Given the description of an element on the screen output the (x, y) to click on. 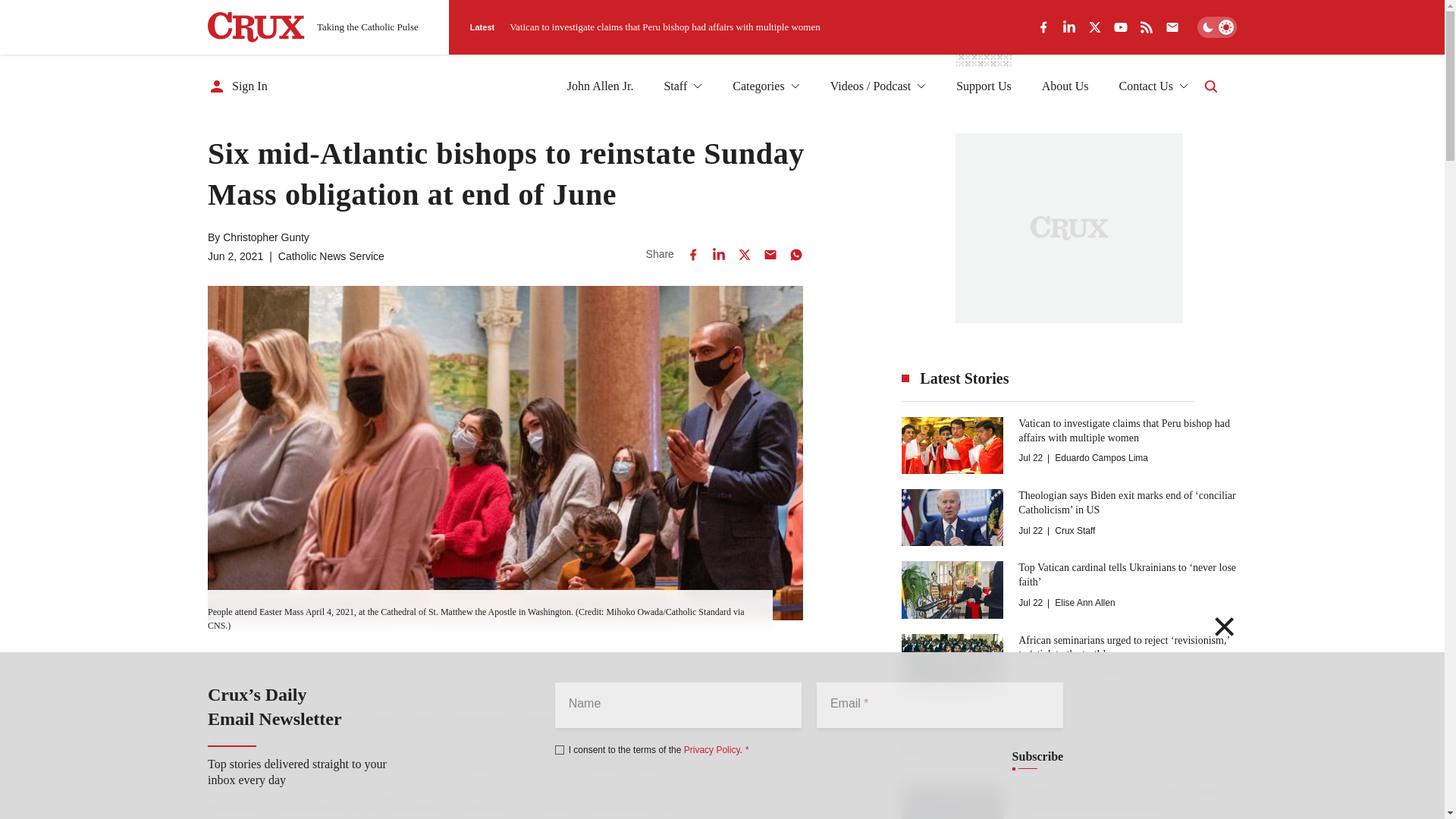
Privacy Policy (711, 749)
Support Us (983, 85)
Subscribe (1037, 756)
Categories (765, 85)
Staff (682, 85)
Sign In (237, 85)
true (559, 749)
John Allen Jr. (600, 85)
